Given the description of an element on the screen output the (x, y) to click on. 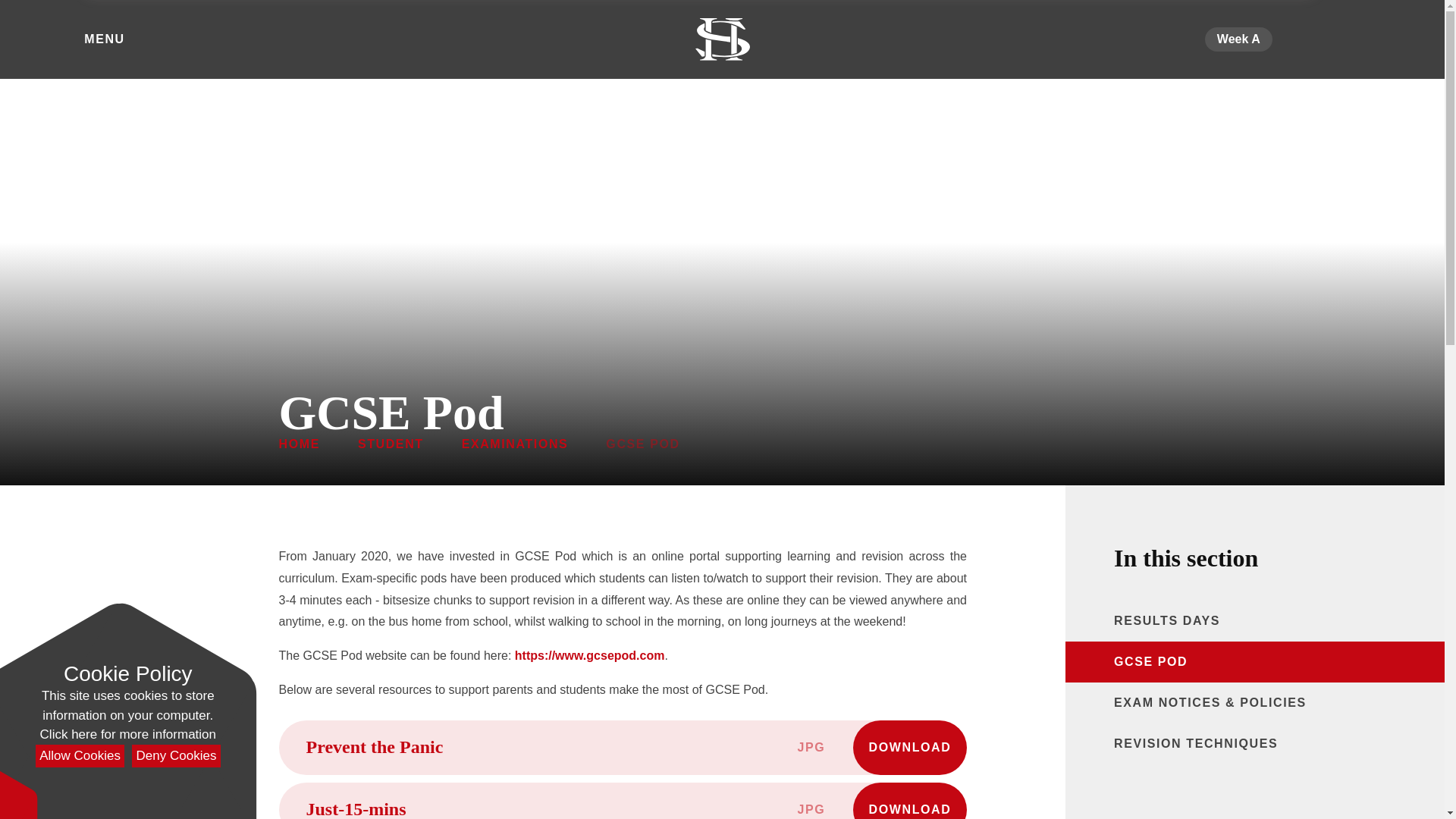
Search (1363, 39)
Allow Cookies (78, 756)
See cookie policy (127, 734)
Facebook (1326, 39)
Twitter (1308, 39)
Instagram (1345, 39)
MENU (98, 38)
